Given the description of an element on the screen output the (x, y) to click on. 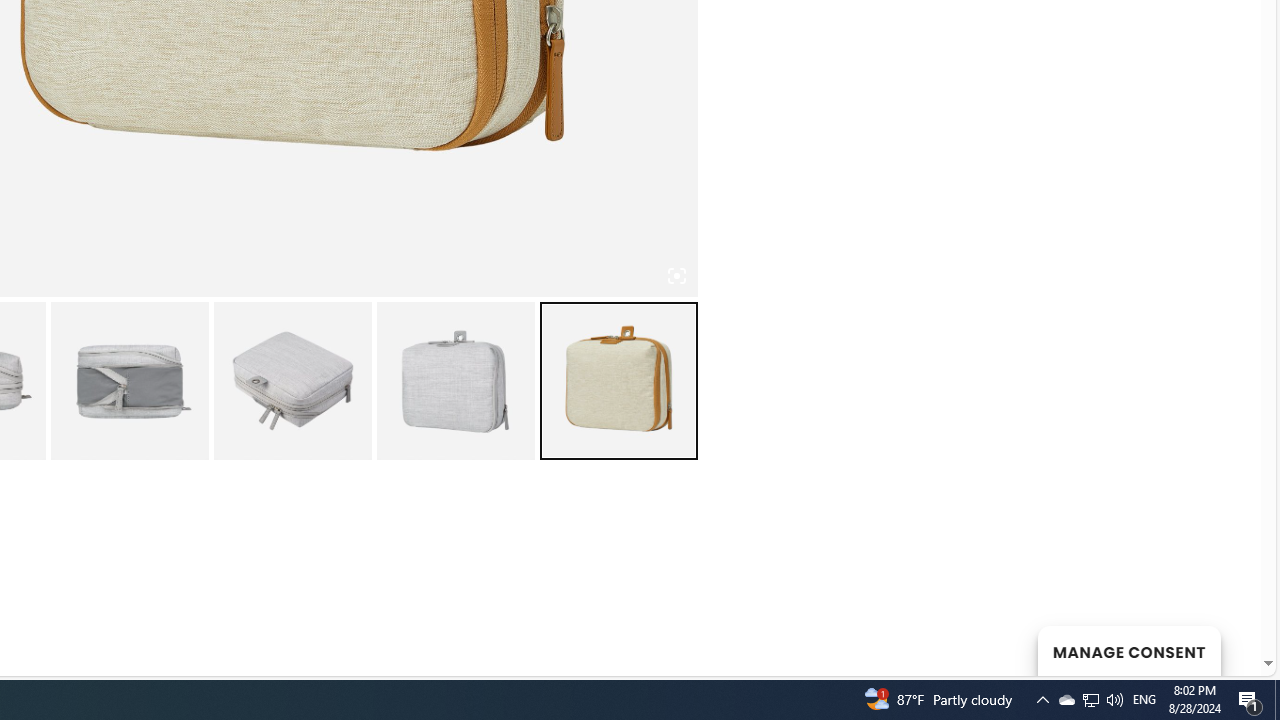
MANAGE CONSENT (1128, 650)
Nordace Siena II Compression Packing Cube (128, 380)
Class: iconic-woothumbs-fullscreen (676, 276)
